Given the description of an element on the screen output the (x, y) to click on. 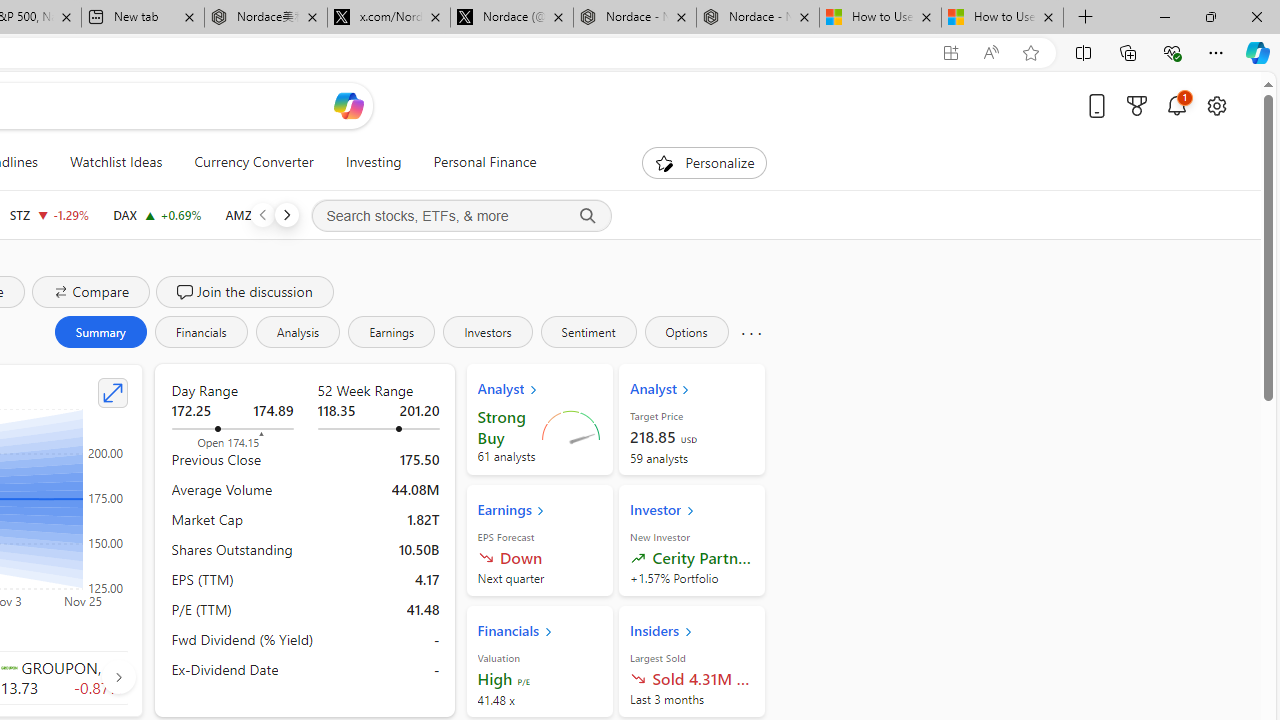
Watchlist Ideas (115, 162)
Earnings (392, 331)
Microsoft rewards (1137, 105)
Summary (100, 331)
Personal Finance (477, 162)
AMZN AMAZON.COM, INC. decrease 173.12 -2.38 -1.36% (271, 214)
Class: autoSuggestIcon-DS-EntryPoint1-1 (8, 667)
Options (686, 331)
Sentiment (588, 331)
Class: card_head_icon_lightMode-DS-EntryPoint1-1 (687, 631)
AutomationID: finance_carousel_navi_arrow (118, 676)
Analysis (297, 331)
AutomationID: finance_carousel_navi_right (118, 677)
